Given the description of an element on the screen output the (x, y) to click on. 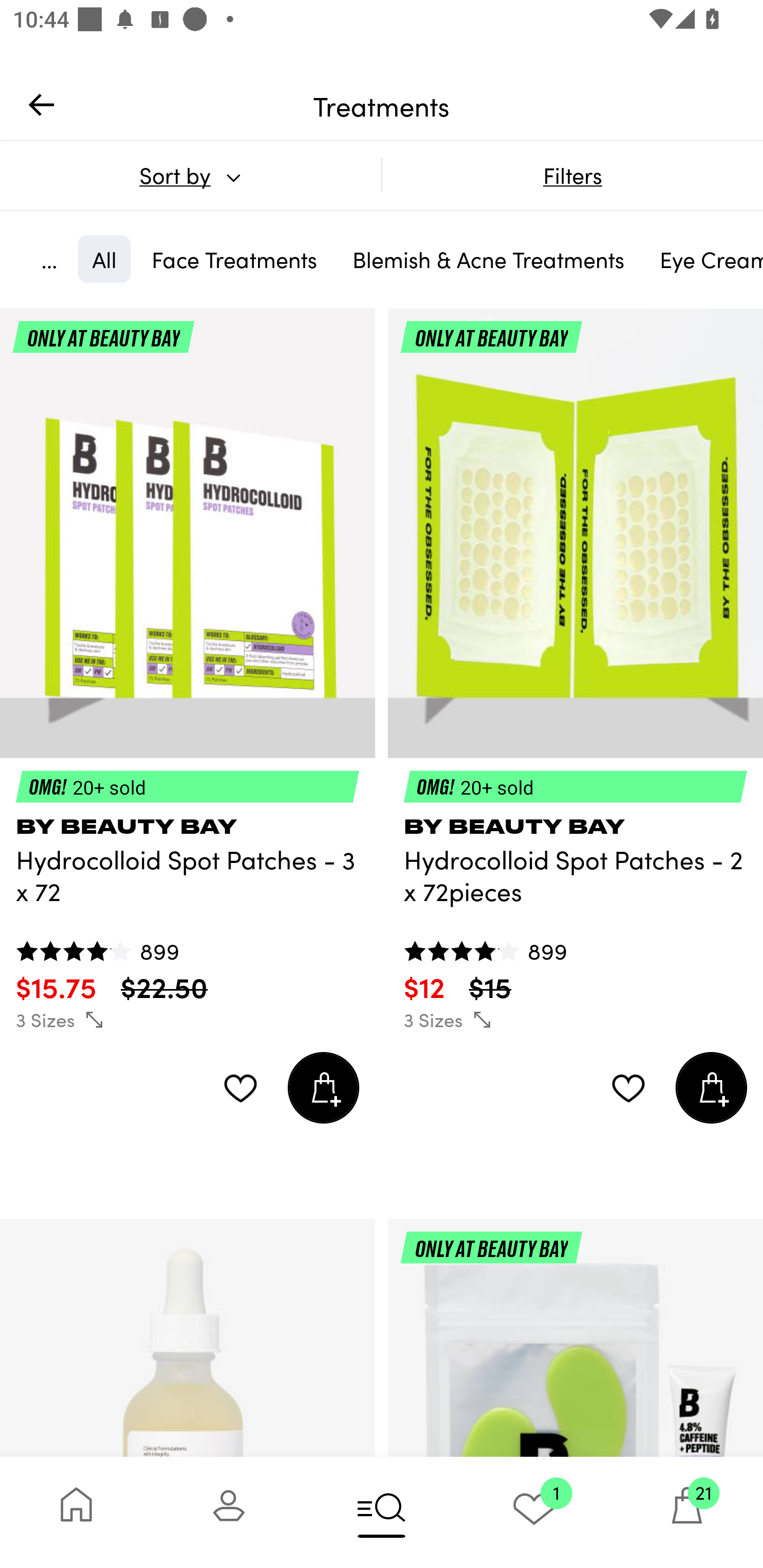
Sort by (190, 174)
Filters (572, 174)
... (48, 258)
All (104, 258)
Face Treatments (234, 258)
Blemish & Acne Treatments (488, 258)
Eye Creams & Treatments (704, 258)
1 (533, 1512)
21 (686, 1512)
